Given the description of an element on the screen output the (x, y) to click on. 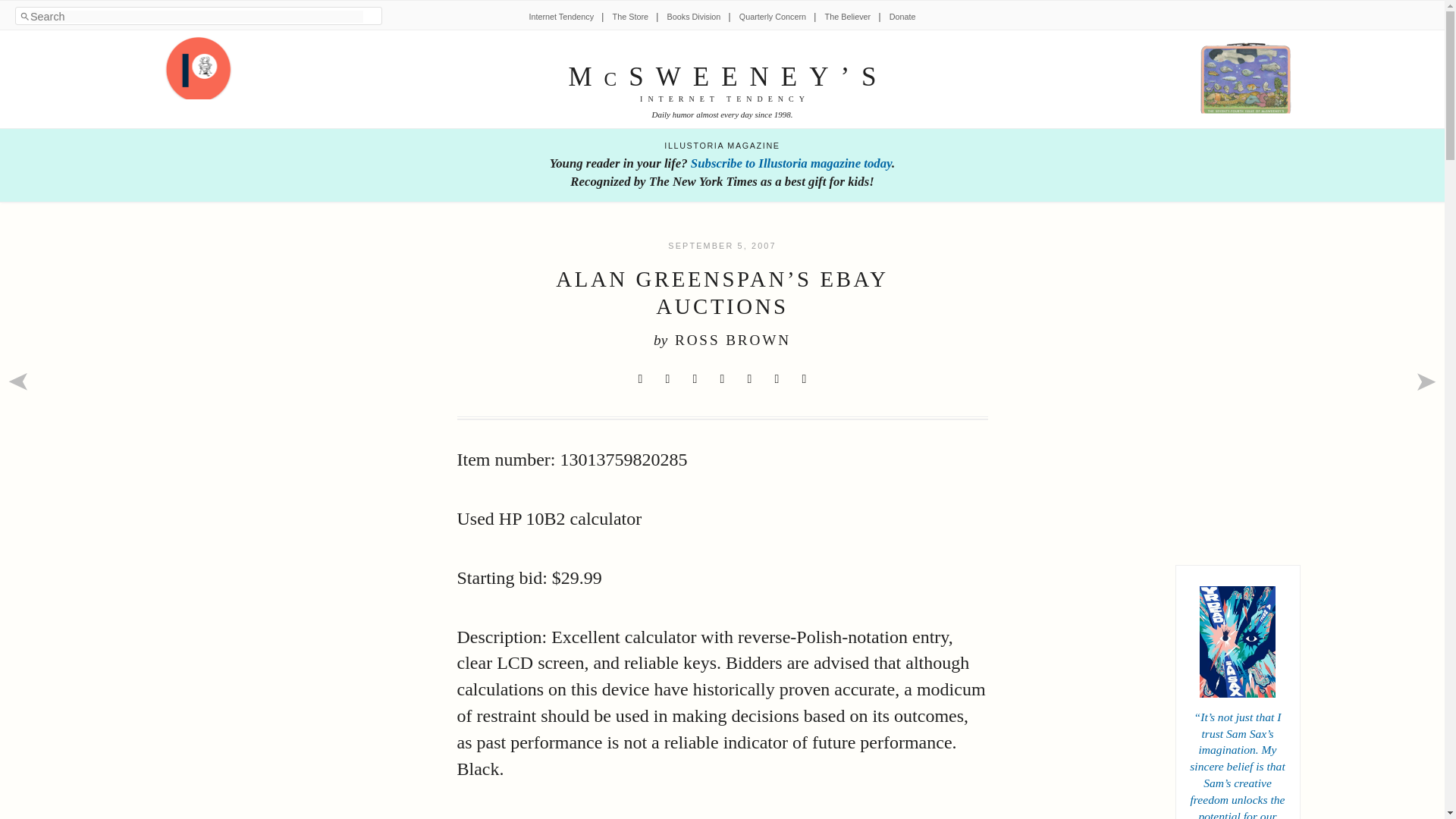
Subscribe to Illustoria magazine today (790, 163)
The Believer (847, 16)
Quarterly Concern (772, 16)
Books Division (693, 16)
Copy to Clipboard (804, 378)
The Store (629, 16)
Share to X (640, 378)
Share to Threads (749, 378)
Share to Bluesky (722, 378)
Share to Email (777, 378)
